Given the description of an element on the screen output the (x, y) to click on. 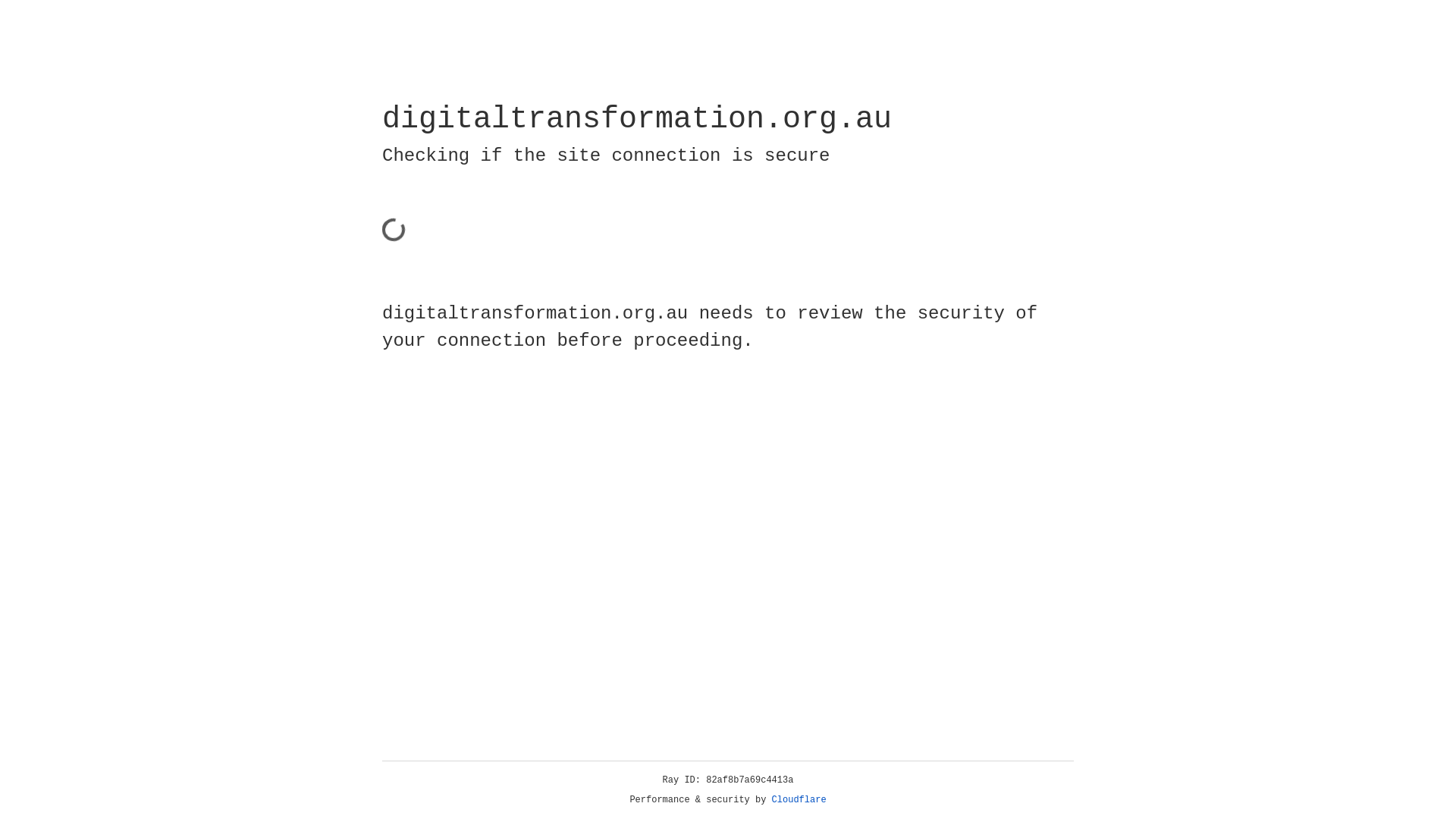
Cloudflare Element type: text (798, 799)
